Given the description of an element on the screen output the (x, y) to click on. 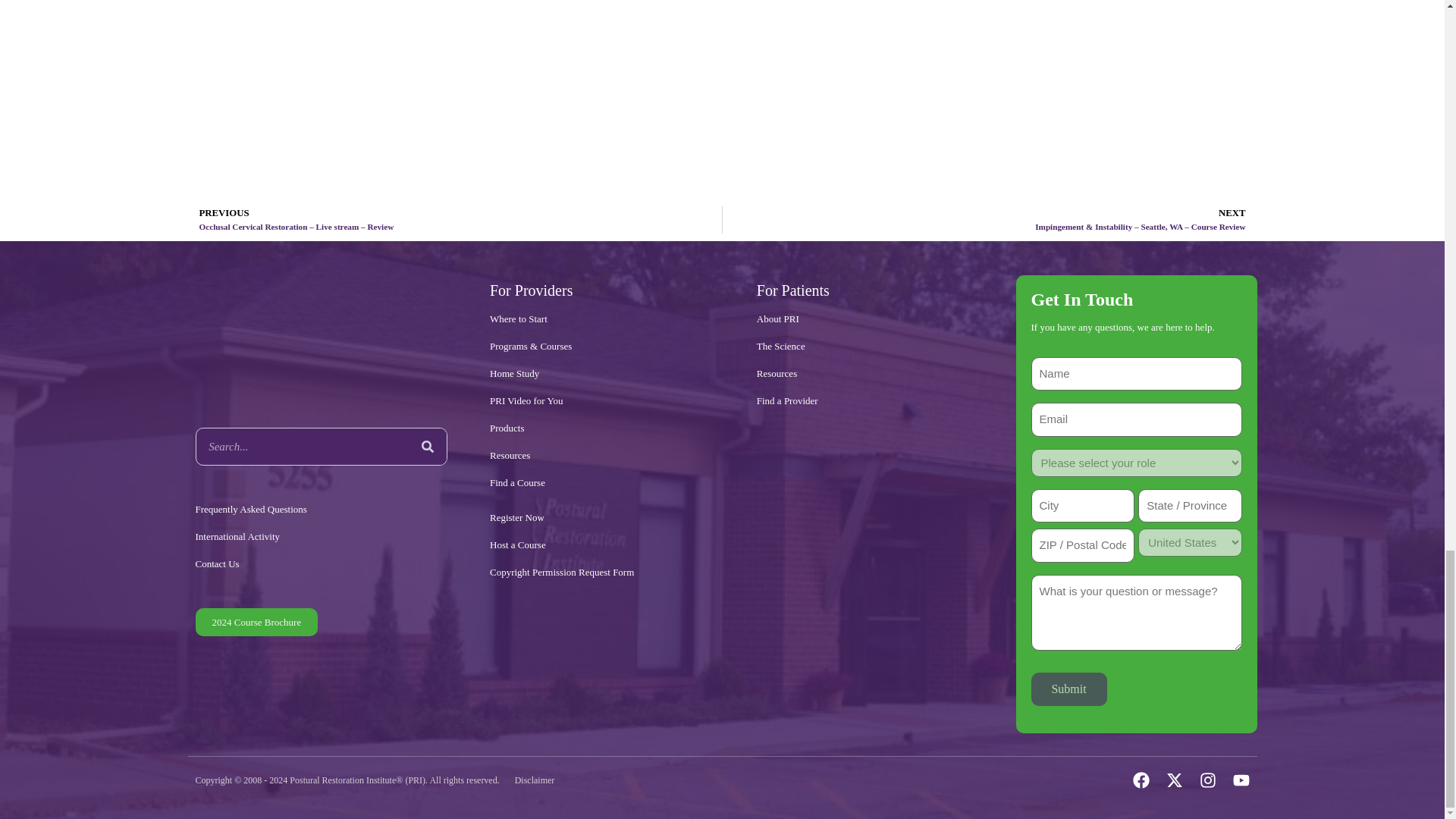
PRI Video for You (601, 400)
Home Study (601, 373)
2024 Course Brochure (256, 622)
Contact Us (321, 564)
Frequently Asked Questions (321, 509)
Products (601, 428)
International Activity (321, 536)
Submit (1068, 688)
Where to Start (601, 318)
